Given the description of an element on the screen output the (x, y) to click on. 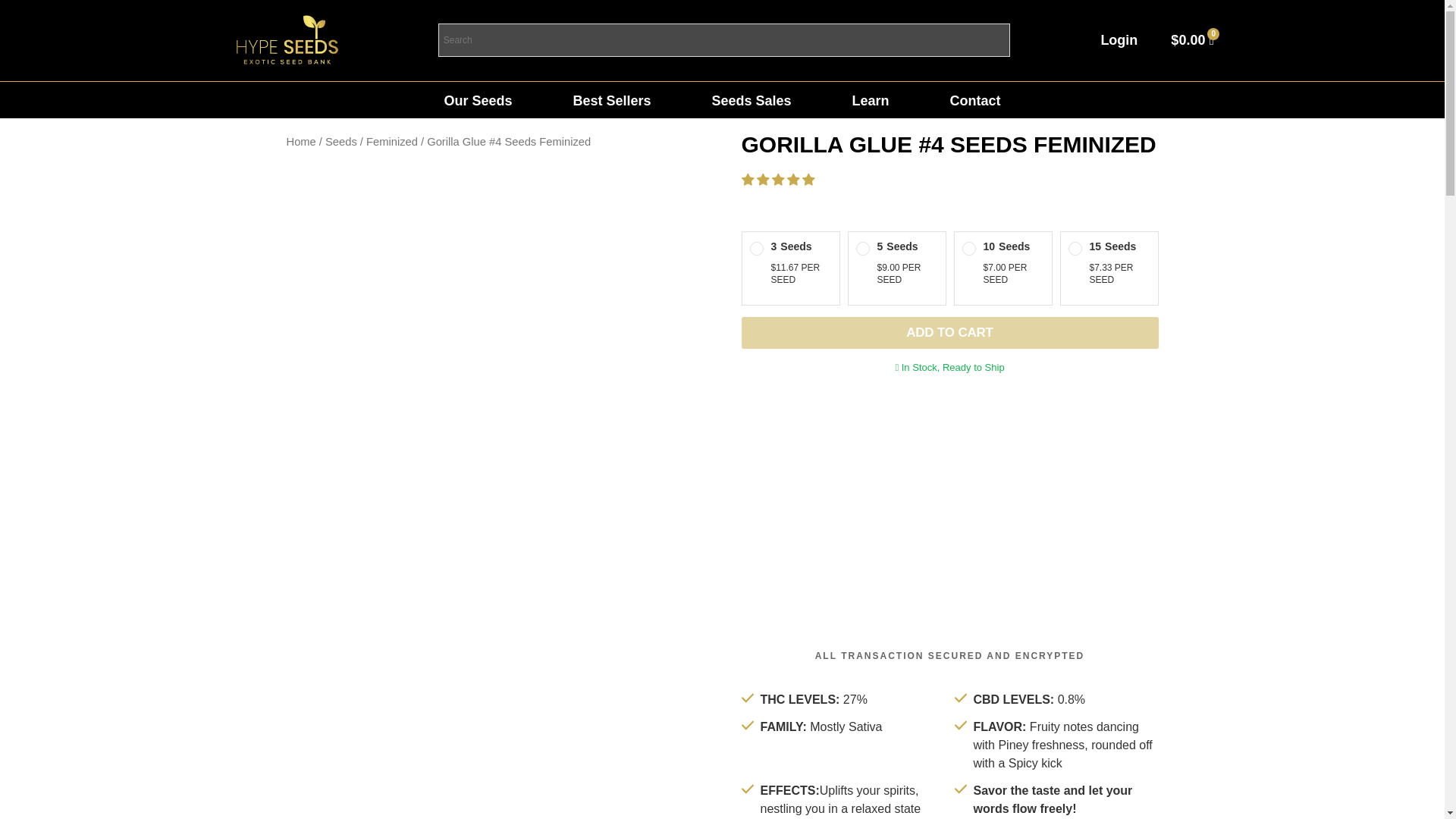
Feminized (391, 141)
Seeds (340, 141)
Our Seeds (477, 100)
ADD TO CART (949, 332)
Seeds Sales (750, 100)
Login (1118, 39)
Learn (870, 100)
Home (300, 141)
Best Sellers (611, 100)
Contact (975, 100)
